Given the description of an element on the screen output the (x, y) to click on. 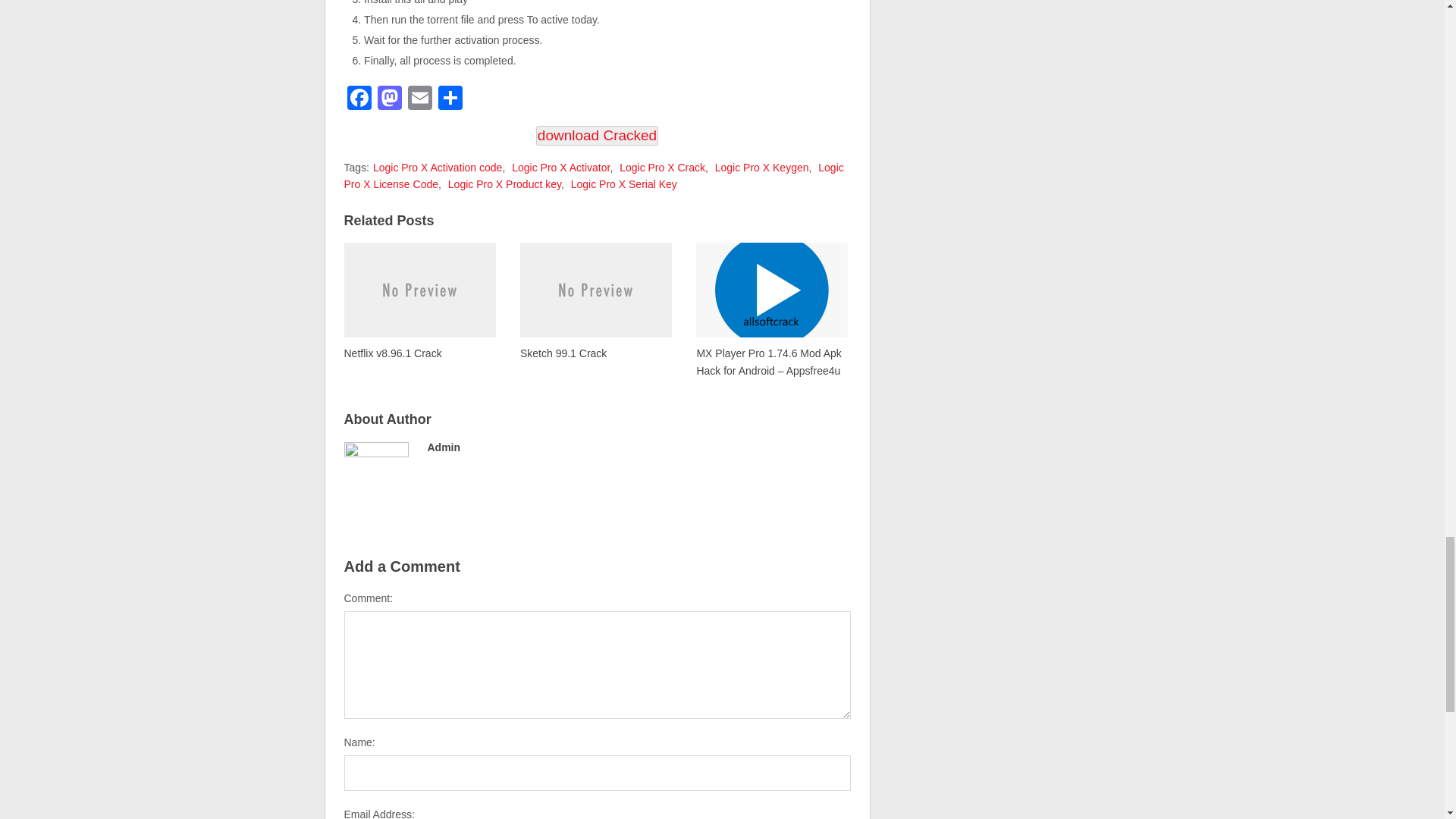
Facebook (358, 99)
download Cracked (596, 135)
Email (419, 99)
Logic Pro X Keygen (761, 167)
Mastodon (389, 99)
Sketch 99.1 Crack (595, 300)
download Cracked (596, 136)
Logic Pro X Activator (561, 167)
Mastodon (389, 99)
Logic Pro X Serial Key (623, 184)
